Given the description of an element on the screen output the (x, y) to click on. 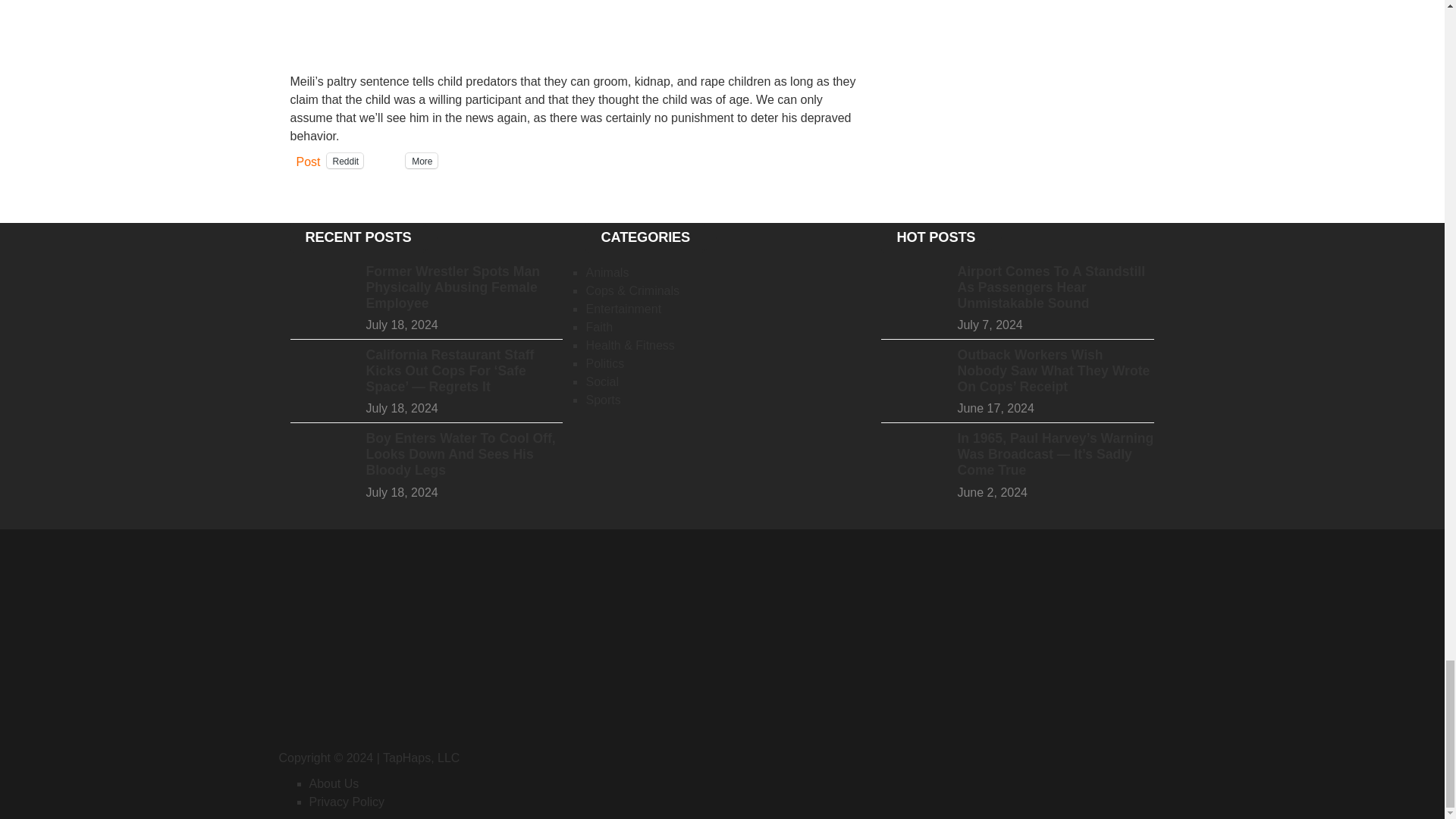
Post (307, 160)
Click to share on Reddit (345, 160)
Reddit (345, 160)
More (421, 160)
